Given the description of an element on the screen output the (x, y) to click on. 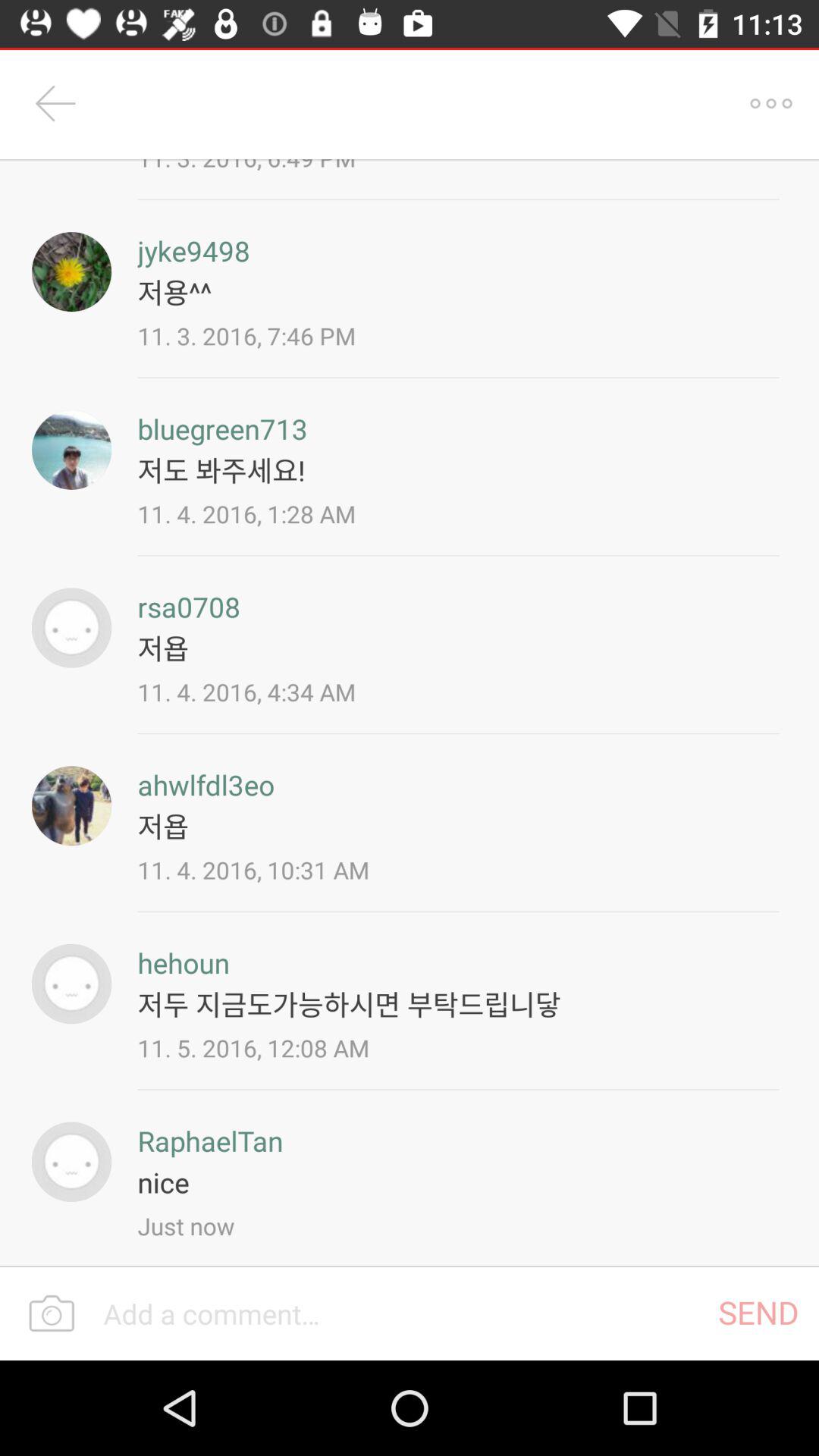
tap send item (758, 1311)
